Given the description of an element on the screen output the (x, y) to click on. 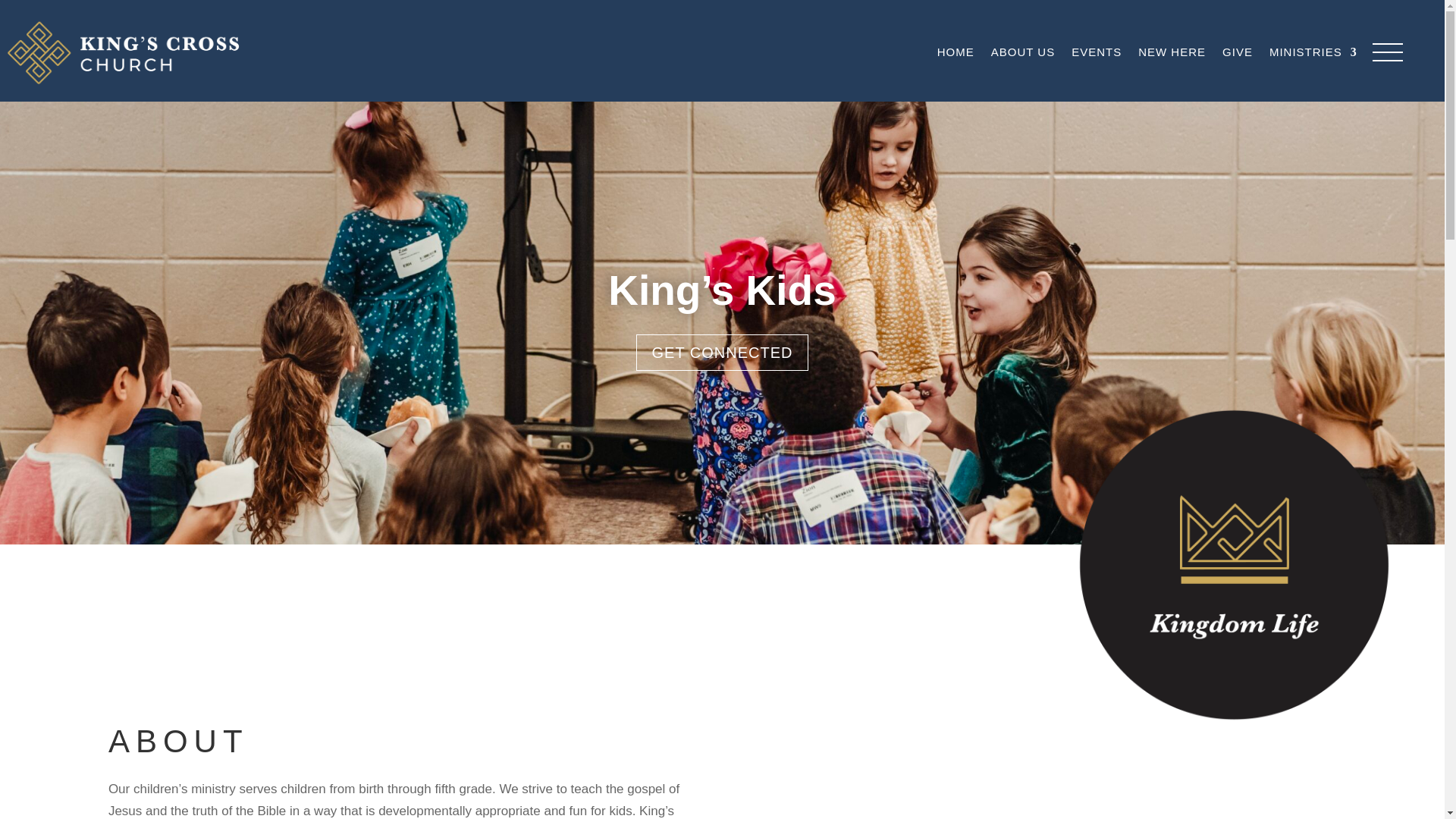
NEW HERE (1171, 52)
MINISTRIES (1312, 52)
SideMenu (1388, 52)
GET CONNECTED (721, 352)
